Given the description of an element on the screen output the (x, y) to click on. 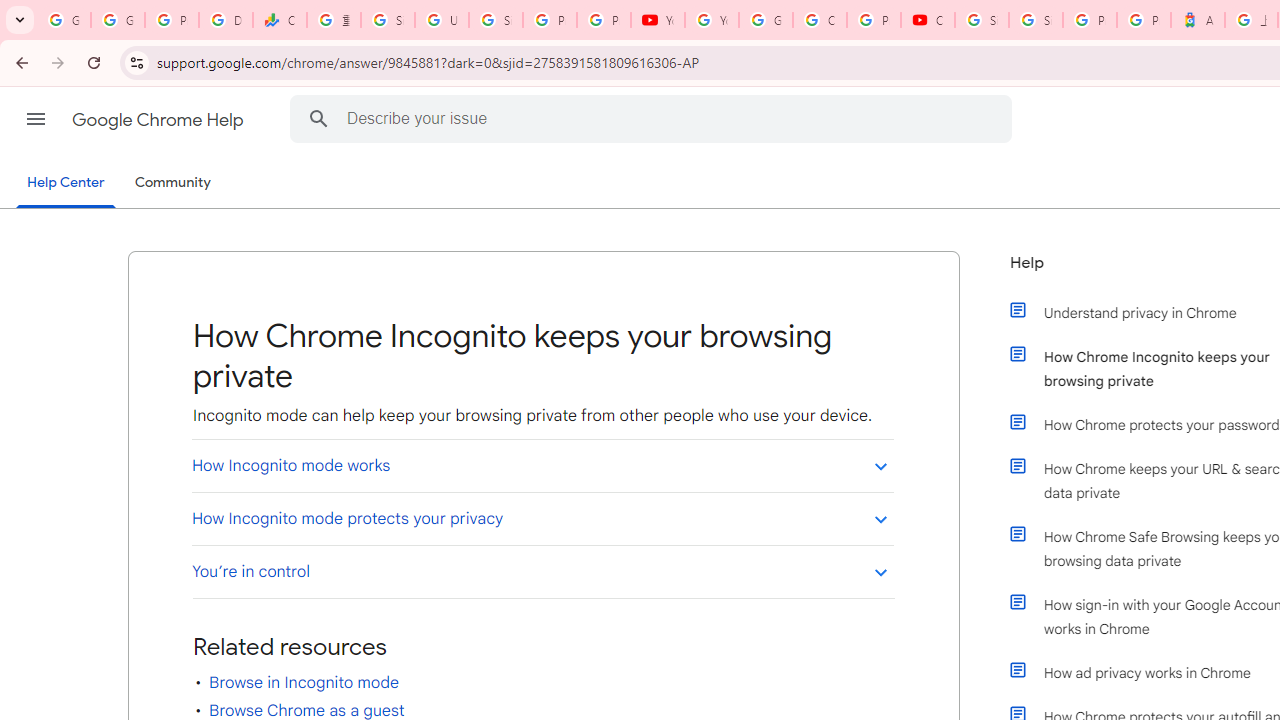
Search Help Center (318, 118)
Help Center (65, 183)
Describe your issue (653, 118)
Browse in Incognito mode (303, 682)
Content Creator Programs & Opportunities - YouTube Creators (927, 20)
Main menu (35, 119)
Google Workspace Admin Community (63, 20)
Privacy Checkup (604, 20)
